Given the description of an element on the screen output the (x, y) to click on. 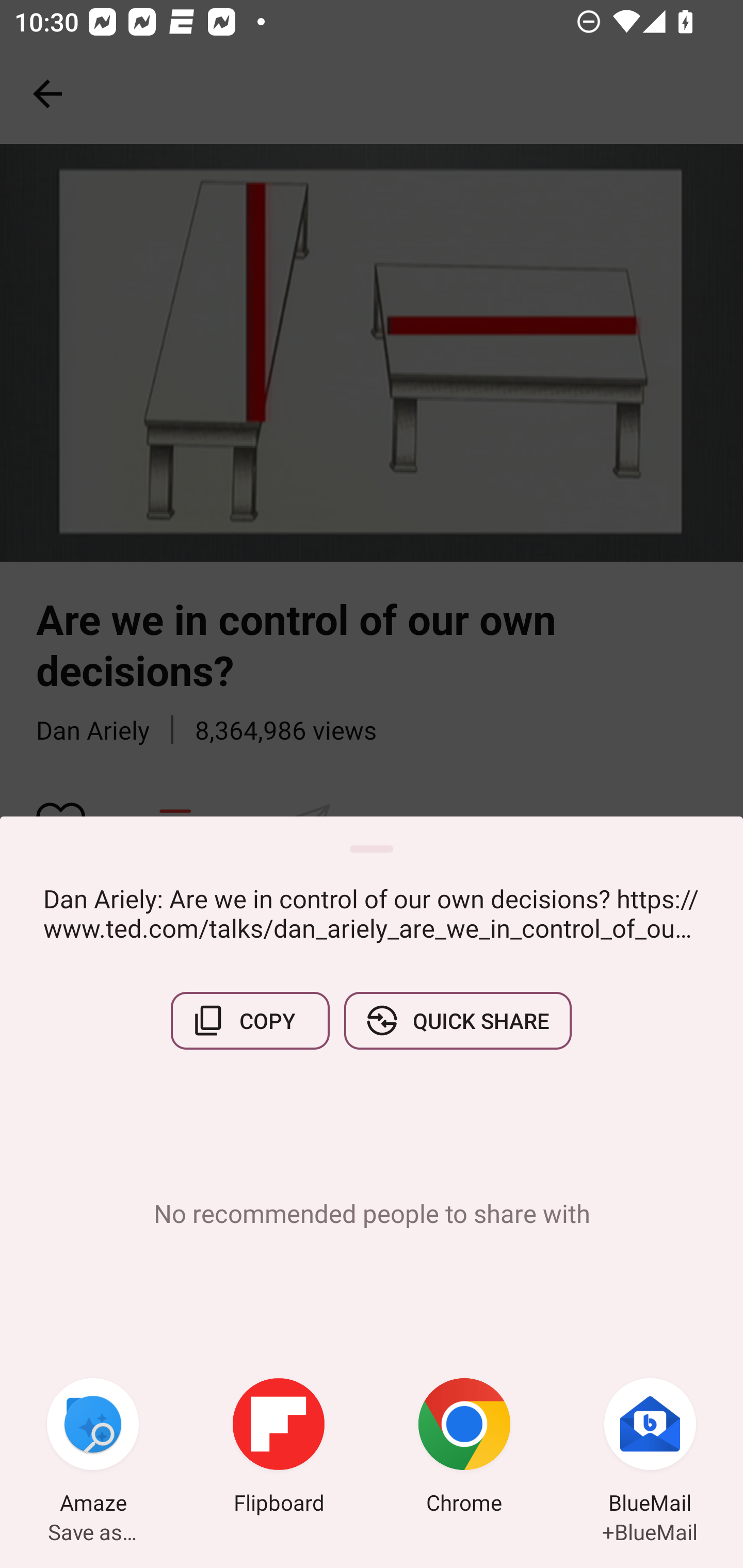
COPY (249, 1020)
QUICK SHARE (457, 1020)
Amaze Save as… (92, 1448)
Flipboard (278, 1448)
Chrome (464, 1448)
BlueMail +BlueMail (650, 1448)
